Given the description of an element on the screen output the (x, y) to click on. 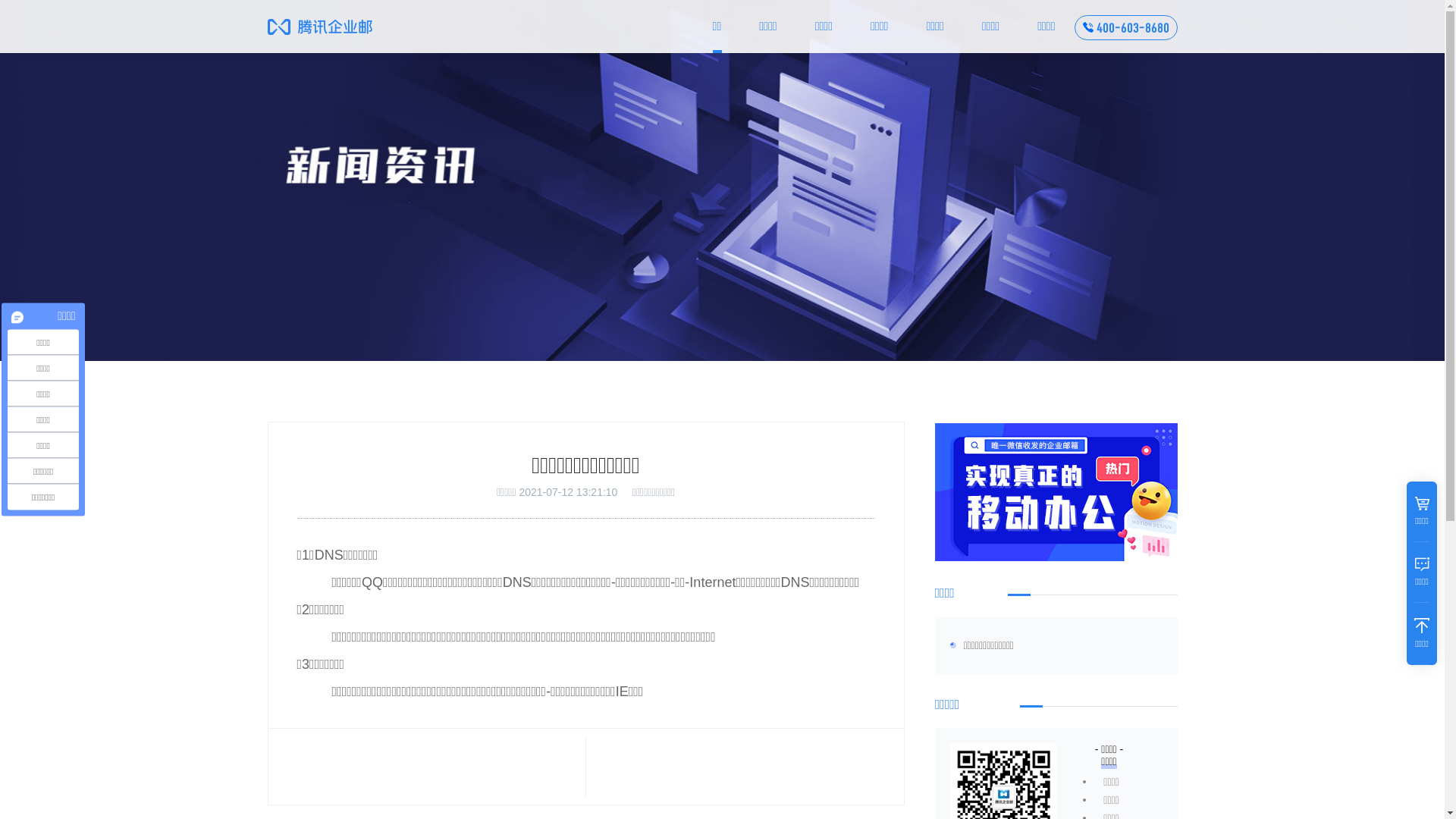
400-603-8680 Element type: text (1132, 27)
